Given the description of an element on the screen output the (x, y) to click on. 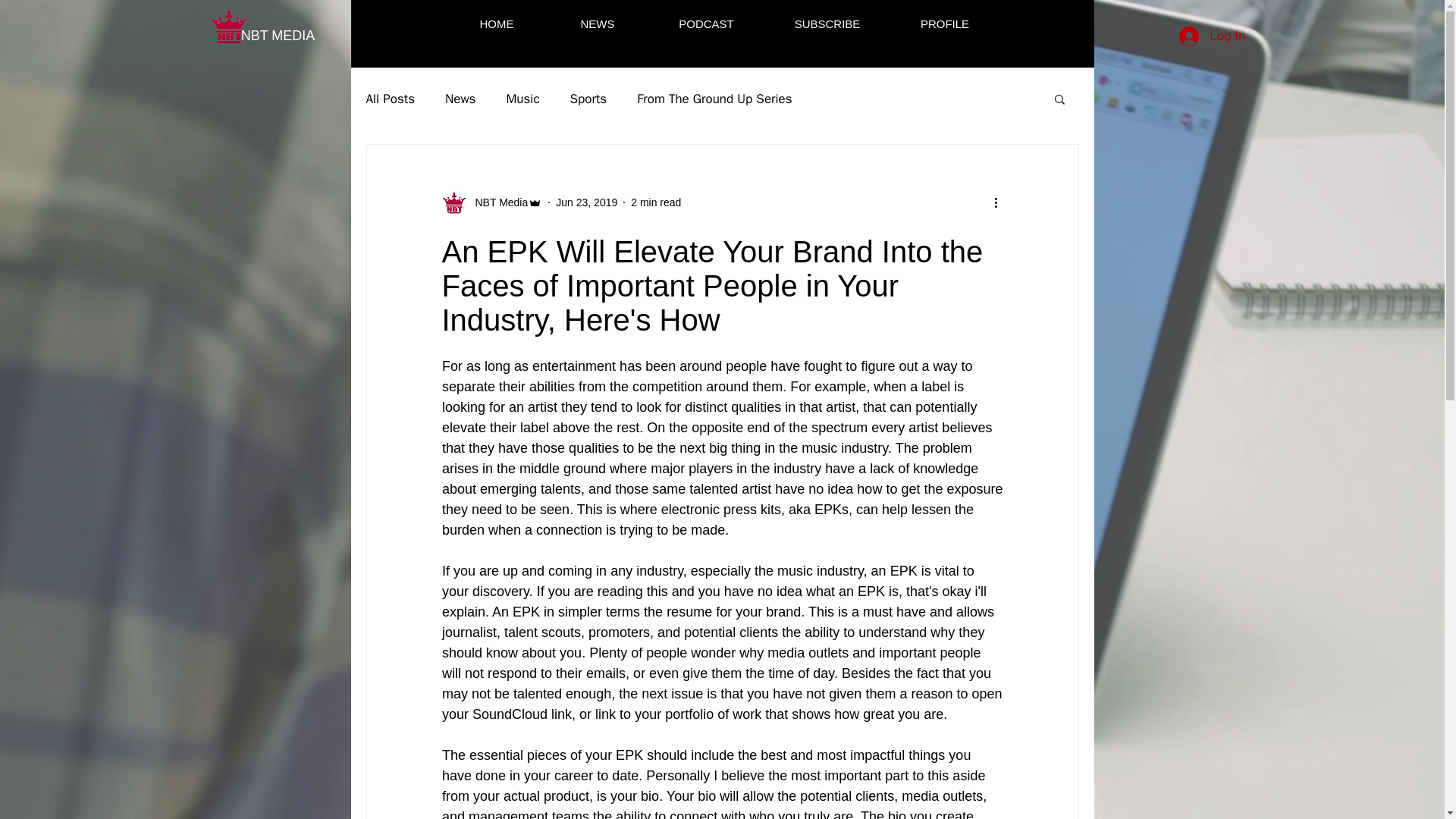
HOME (496, 24)
Music (521, 98)
Sports (588, 98)
All Posts (389, 98)
NBT Media (491, 202)
SUBSCRIBE (826, 24)
Log In (1212, 36)
NEWS (597, 24)
NBT Media (496, 201)
PODCAST (705, 24)
